Given the description of an element on the screen output the (x, y) to click on. 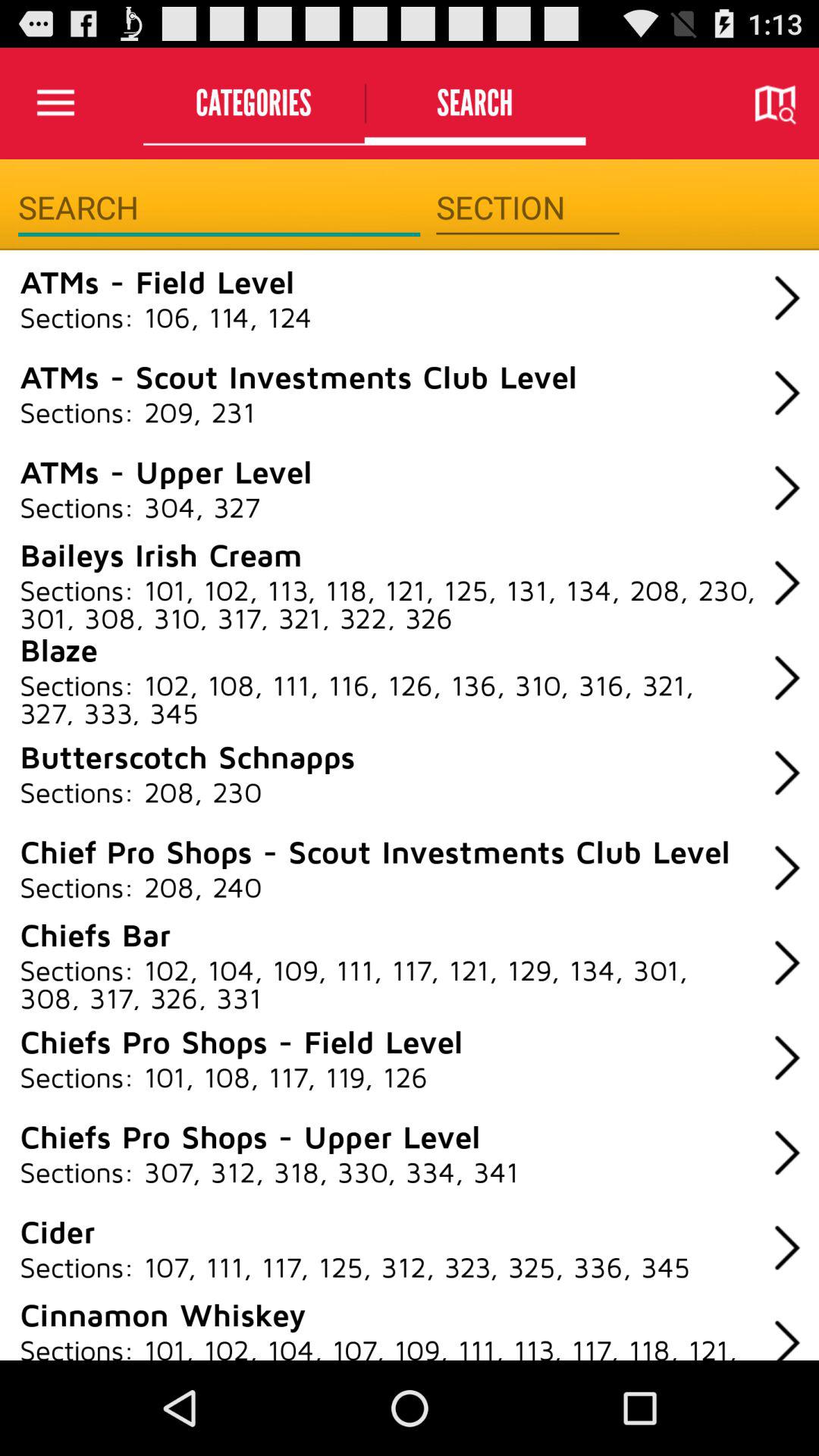
change category (527, 207)
